Given the description of an element on the screen output the (x, y) to click on. 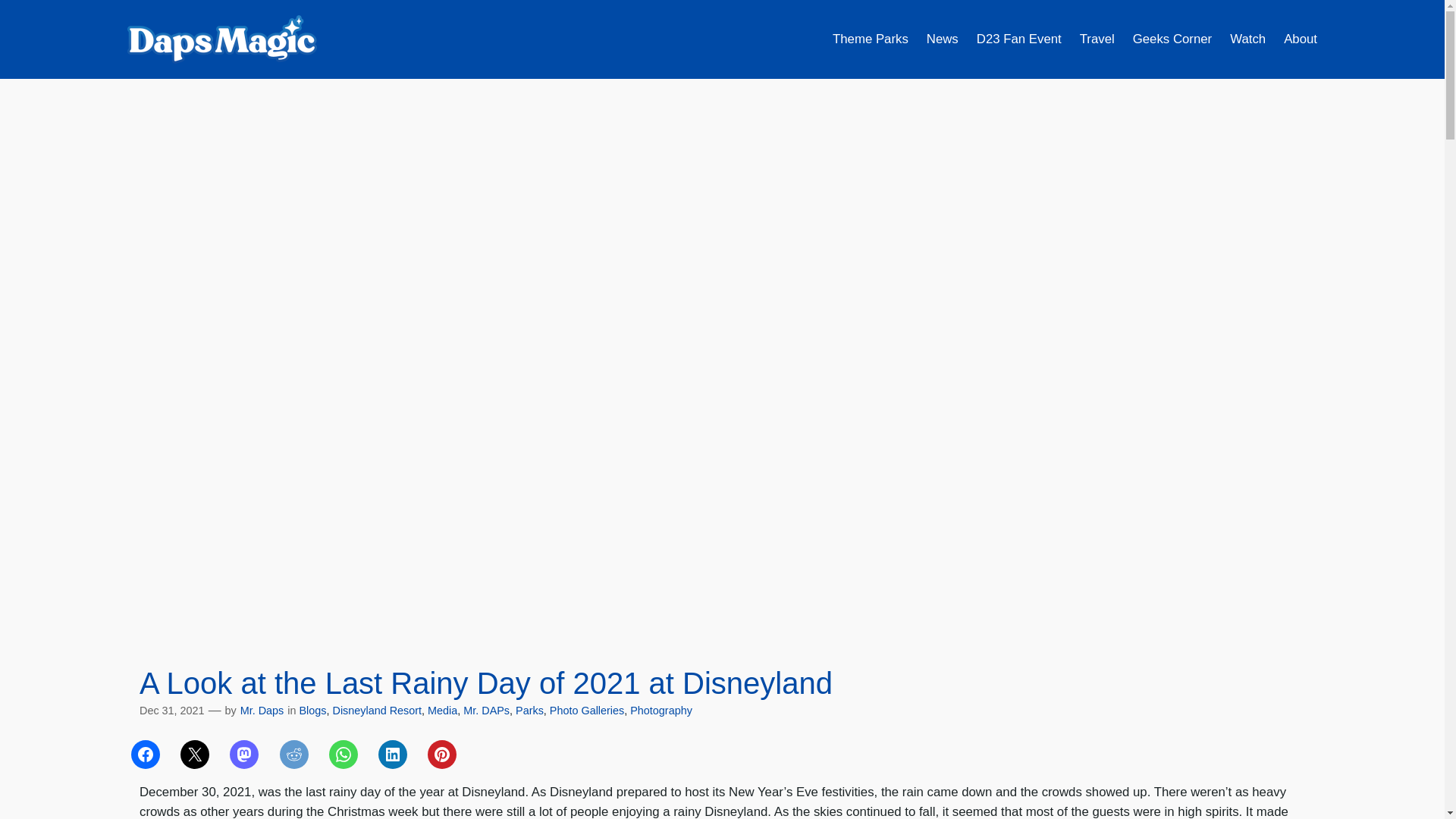
Photography (661, 710)
D23 Fan Event (1018, 39)
Mr. DAPs (486, 710)
Photo Galleries (587, 710)
Theme Parks (870, 39)
Travel (1097, 39)
Media (442, 710)
News (942, 39)
Mr. Daps (261, 710)
Blogs (312, 710)
Parks (529, 710)
Dec 31, 2021 (172, 710)
Watch (1247, 39)
Geeks Corner (1171, 39)
About (1300, 39)
